Given the description of an element on the screen output the (x, y) to click on. 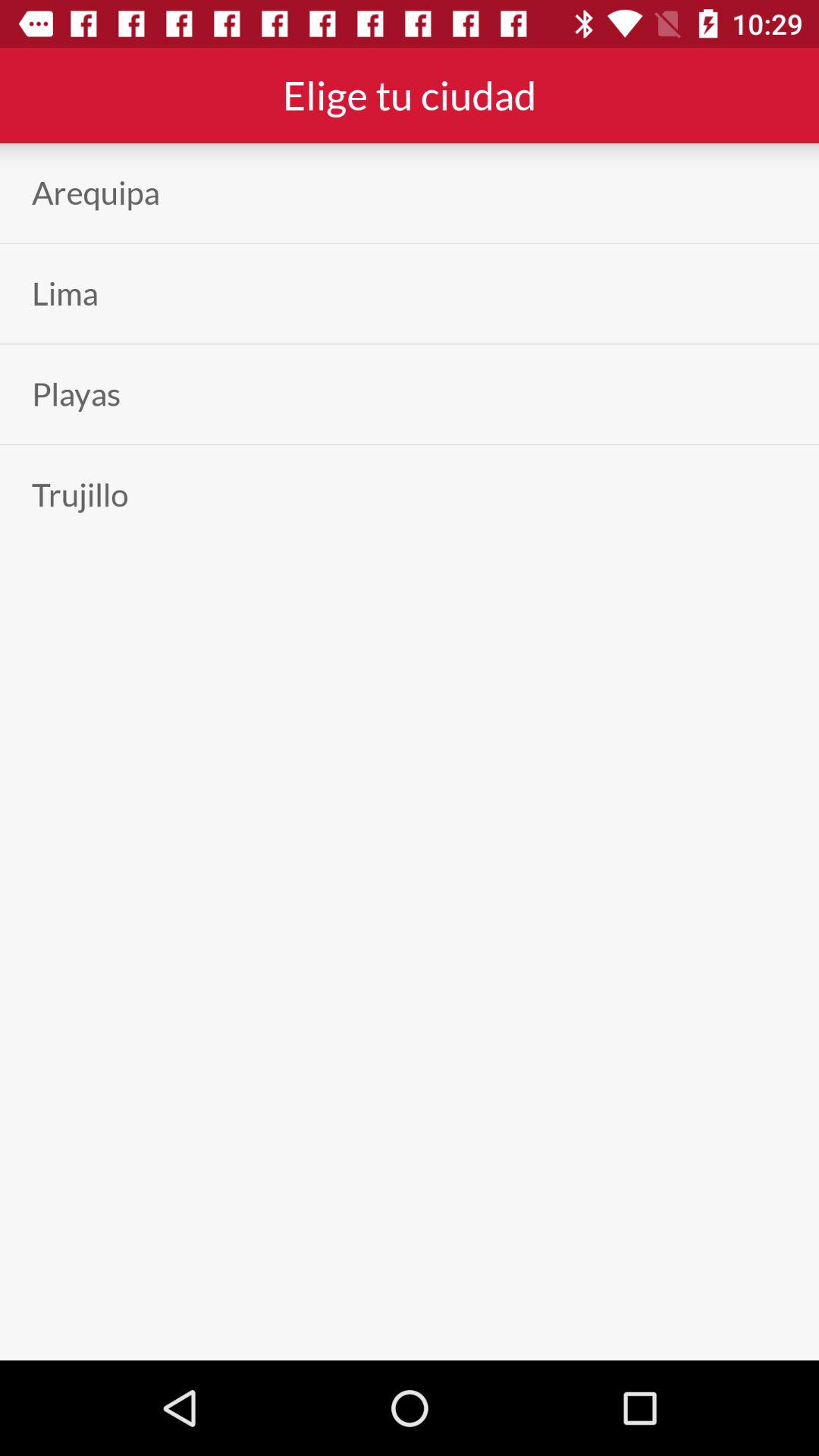
turn off app above the playas (64, 293)
